Given the description of an element on the screen output the (x, y) to click on. 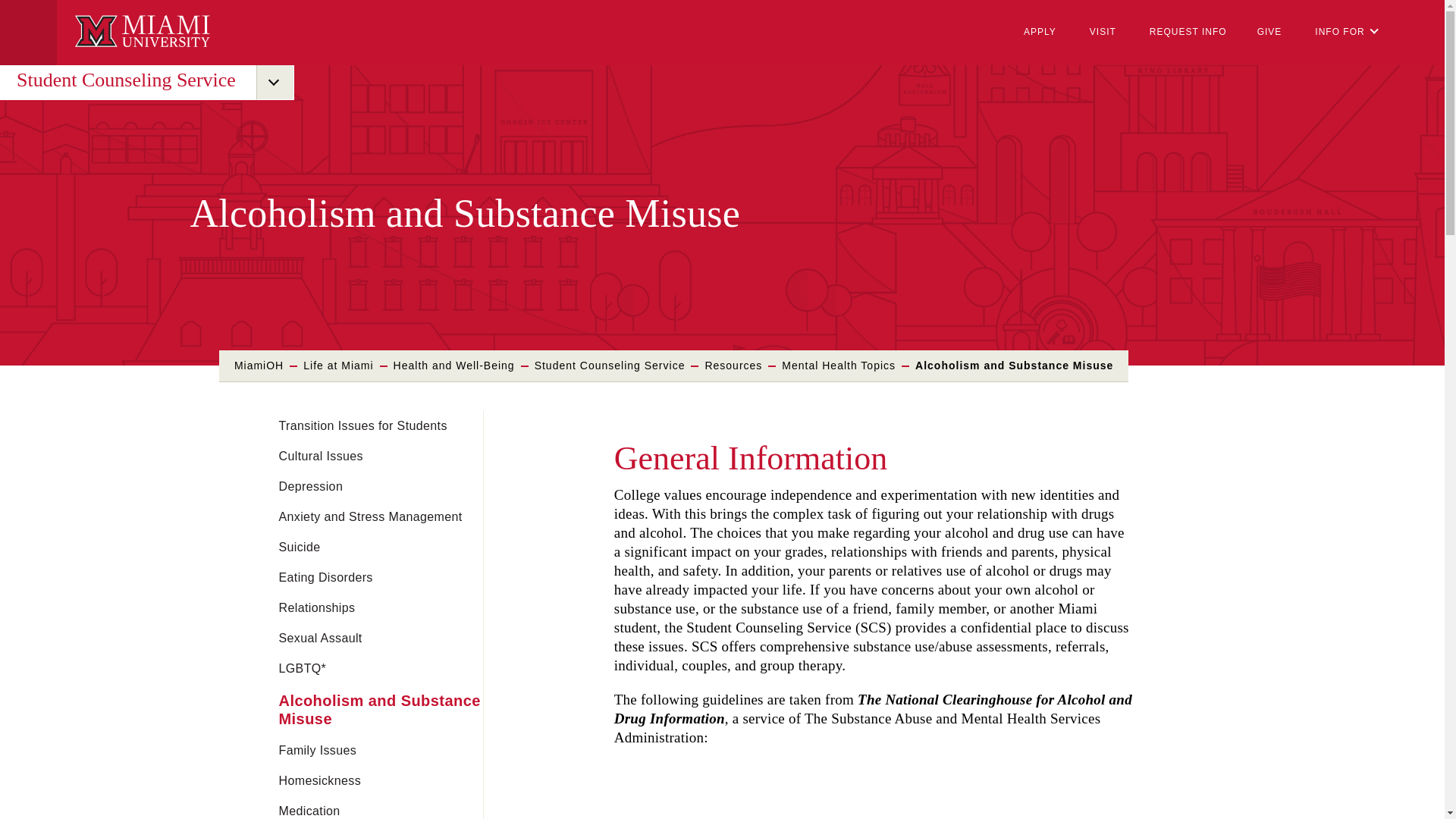
GIVE (1269, 32)
APPLY (1040, 32)
INFO FOR (1346, 32)
REQUEST INFO (1188, 32)
VISIT (1102, 32)
